Given the description of an element on the screen output the (x, y) to click on. 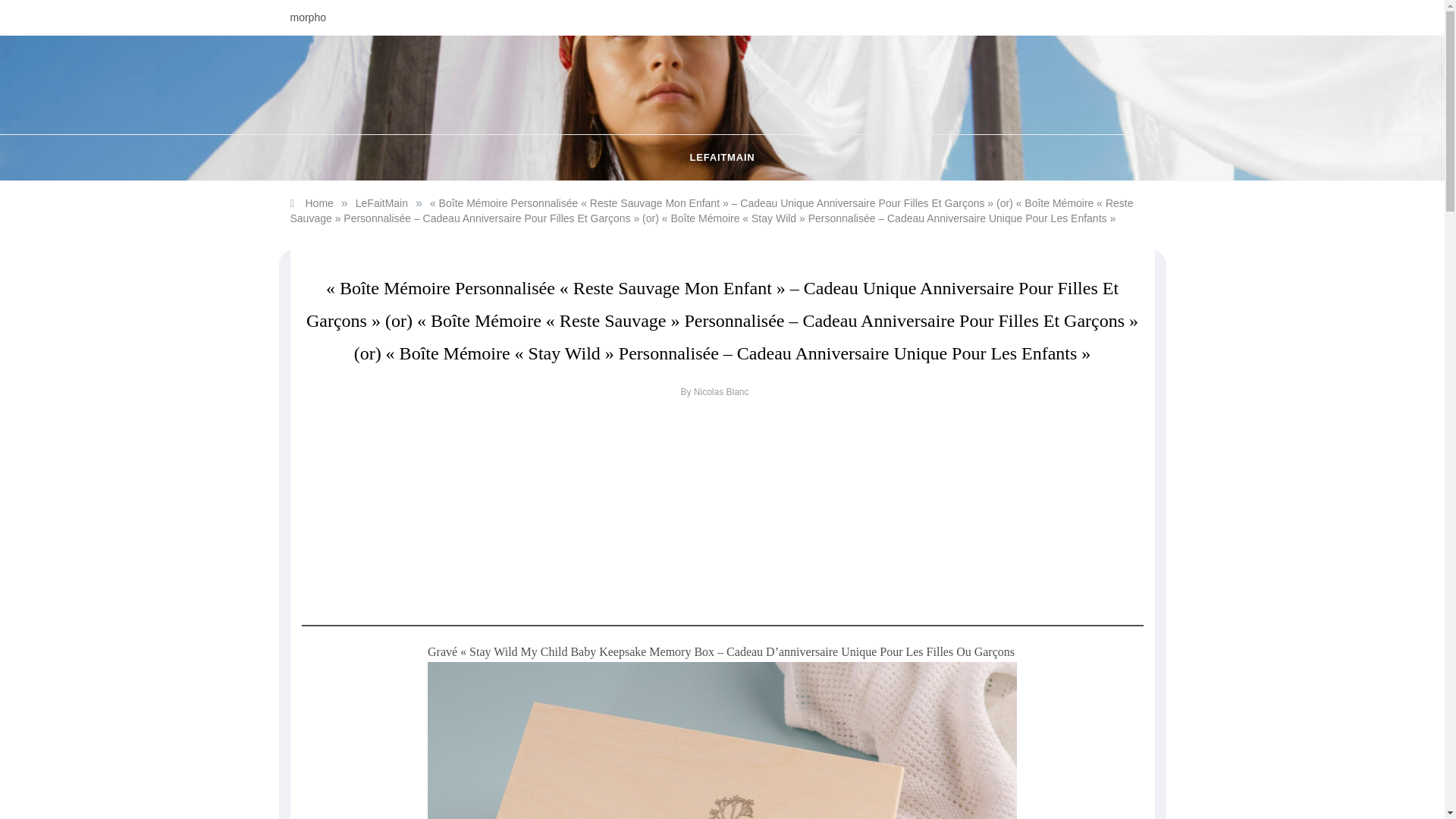
Nicolas Blanc (721, 391)
LeFaitMain (381, 203)
THE HIPPIE CORNER (686, 109)
morpho (306, 17)
LEFAITMAIN (722, 157)
Home (311, 203)
